Given the description of an element on the screen output the (x, y) to click on. 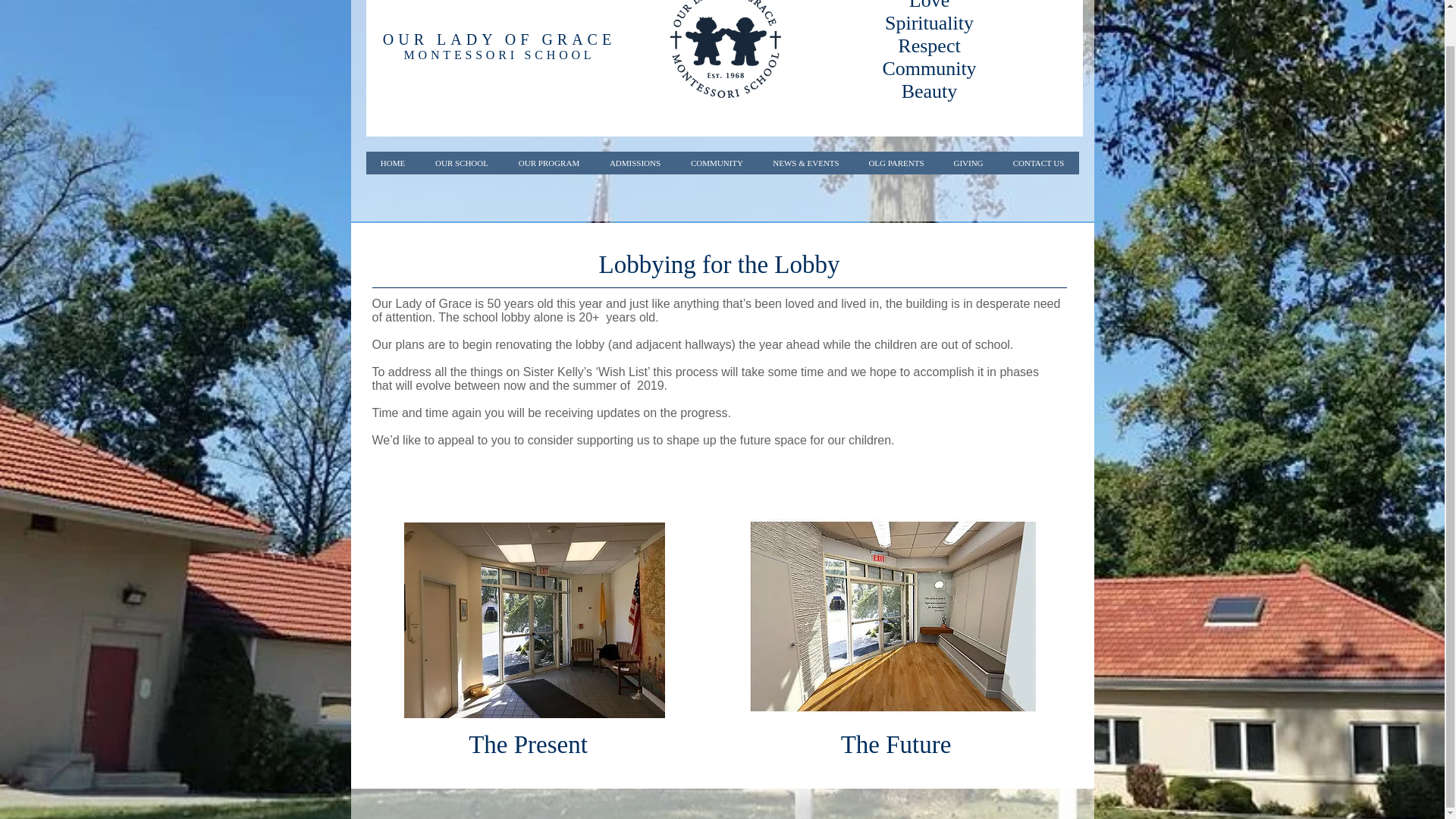
COMMUNITY (716, 162)
GIVING (968, 162)
OUR SCHOOL (461, 162)
CONTACT US (1037, 162)
HOME (392, 162)
OUR PROGRAM (548, 162)
OLG PARENTS (896, 162)
ADMISSIONS (634, 162)
